Given the description of an element on the screen output the (x, y) to click on. 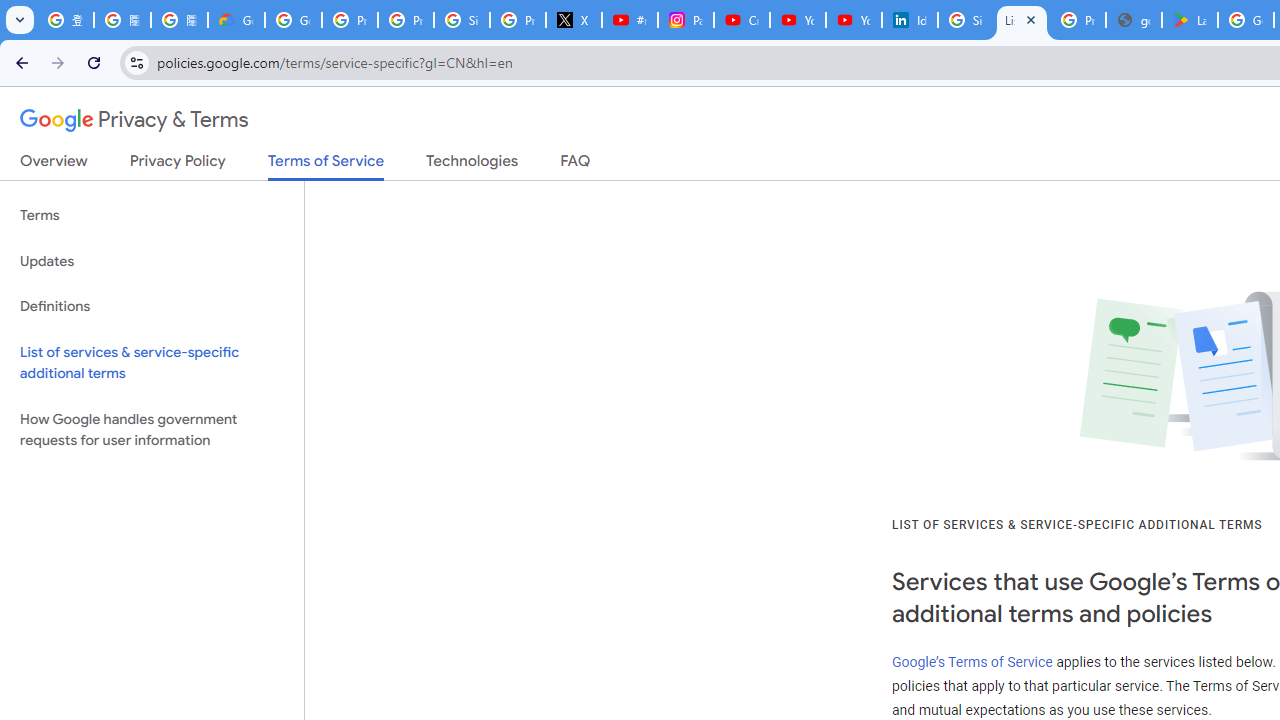
Google Cloud Privacy Notice (235, 20)
YouTube Culture & Trends - YouTube Top 10, 2021 (853, 20)
Definitions (152, 306)
Sign in - Google Accounts (966, 20)
